Given the description of an element on the screen output the (x, y) to click on. 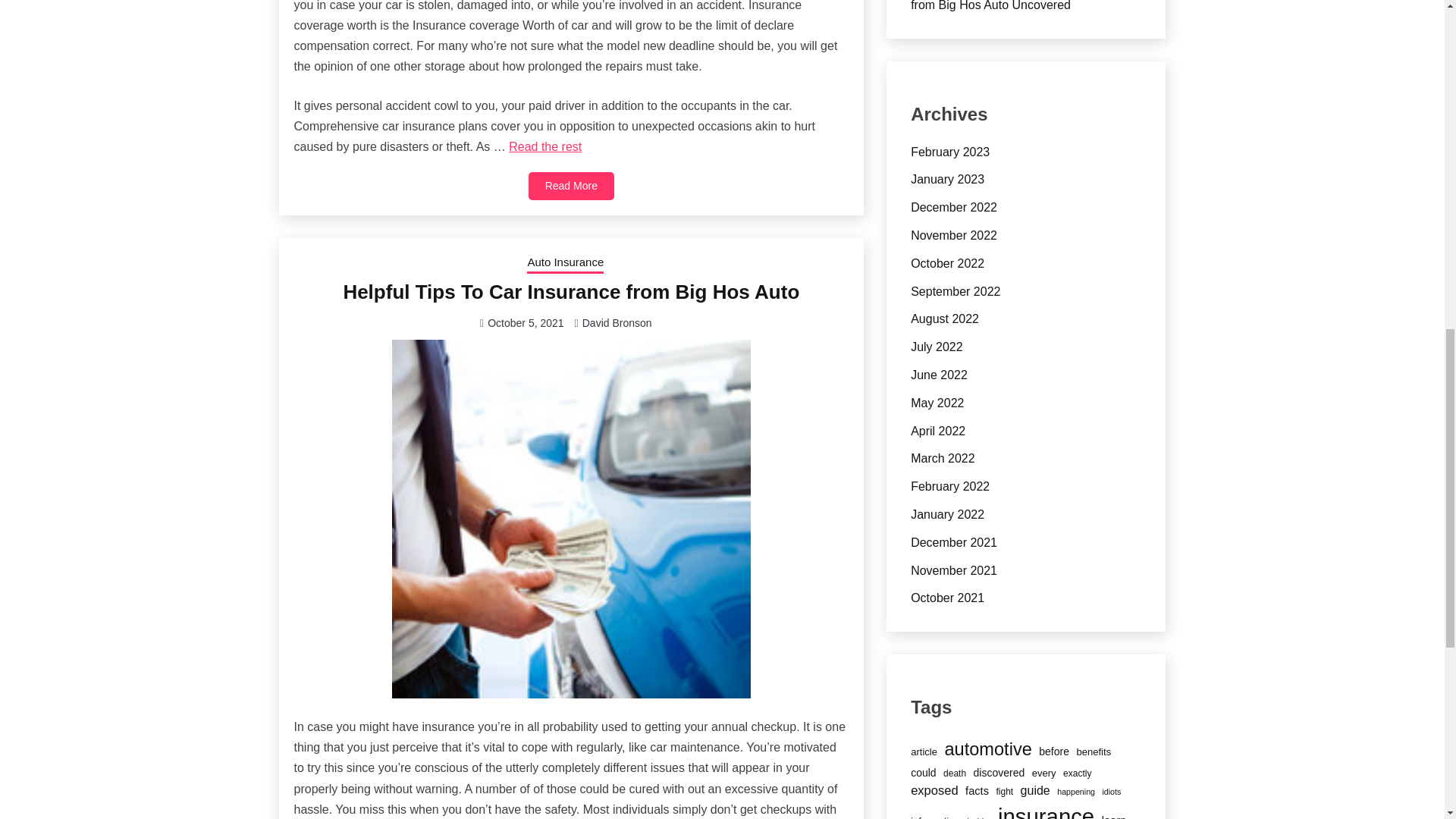
October 2022 (947, 263)
May 2022 (937, 402)
November 2022 (954, 235)
Read More (571, 185)
January 2023 (947, 178)
September 2022 (955, 291)
Read the rest (544, 146)
December 2022 (954, 206)
David Bronson (617, 322)
July 2022 (936, 346)
Auto Insurance (565, 263)
October 5, 2021 (525, 322)
Helpful Tips To Car Insurance from Big Hos Auto (570, 291)
August 2022 (944, 318)
